Given the description of an element on the screen output the (x, y) to click on. 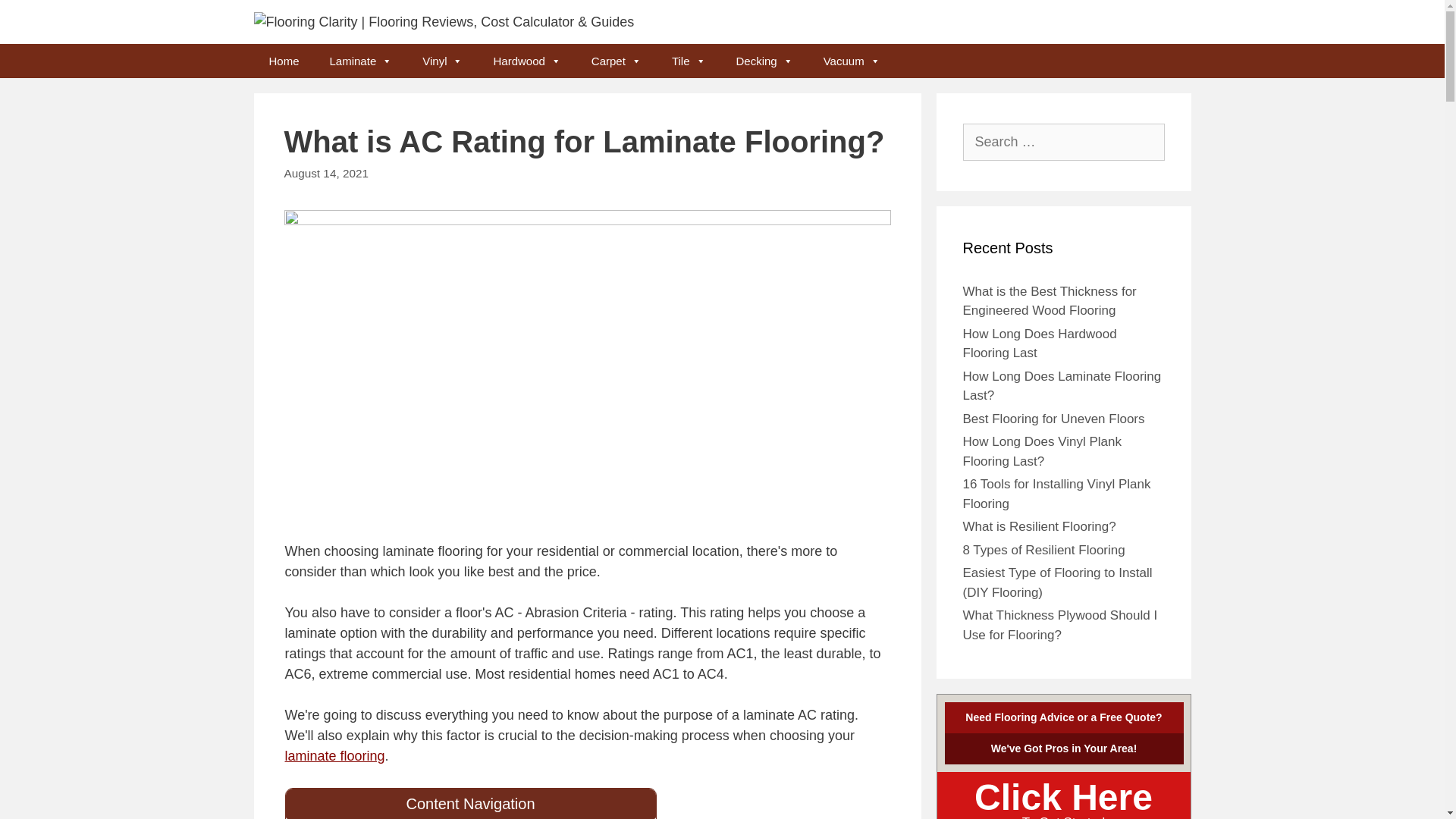
Laminate (360, 60)
Search for: (1063, 141)
Home (283, 60)
Vinyl (442, 60)
